Given the description of an element on the screen output the (x, y) to click on. 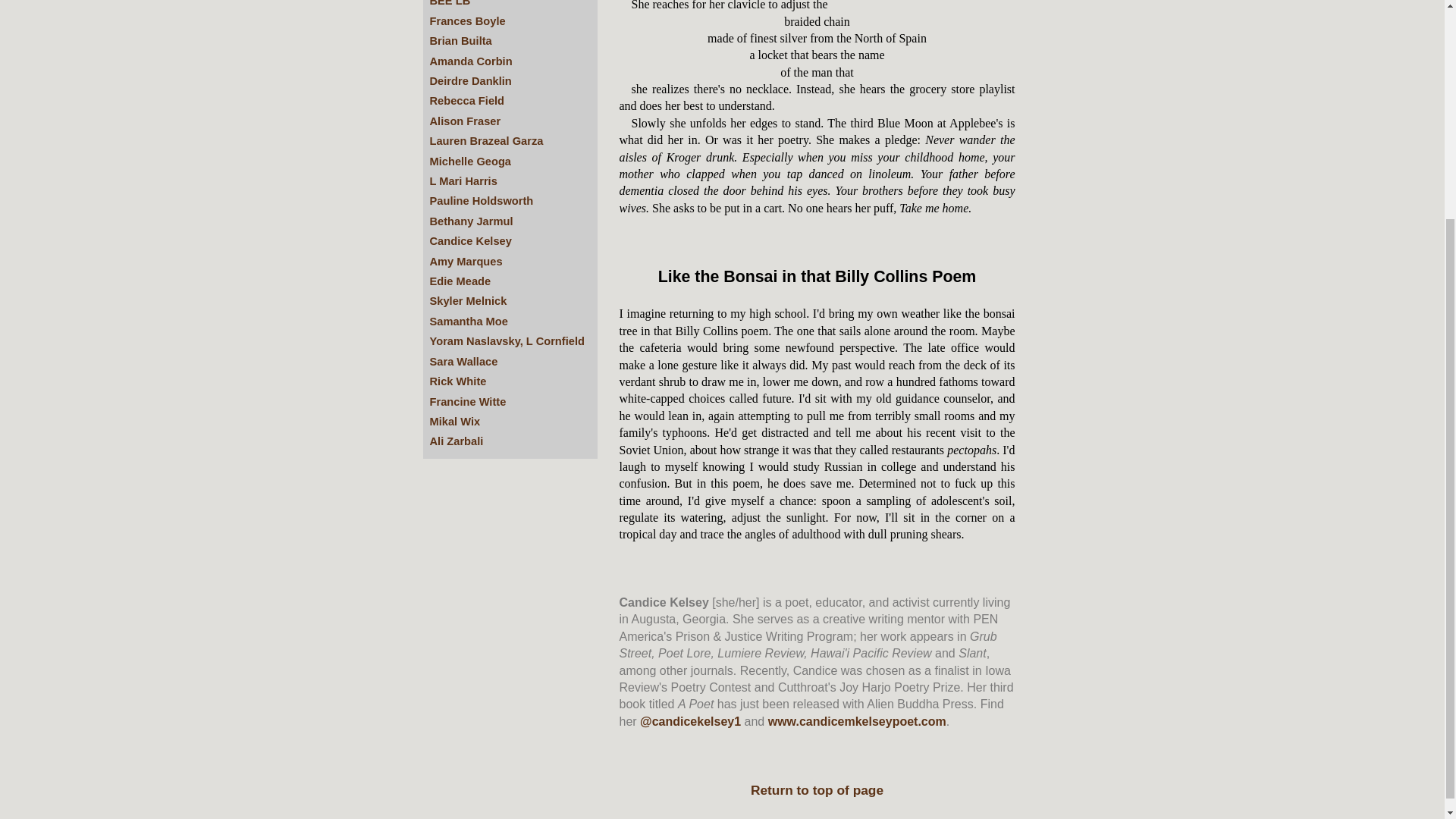
Return to top of page (817, 789)
Amy Marques (465, 261)
Frances Boyle (467, 21)
Yoram Naslavsky, L Cornfield (506, 340)
Francine Witte (467, 400)
Edie Meade (459, 281)
Lauren Brazeal Garza (486, 141)
Ali Zarbali (456, 440)
Skyler Melnick (467, 300)
L Mari Harris (462, 181)
